Given the description of an element on the screen output the (x, y) to click on. 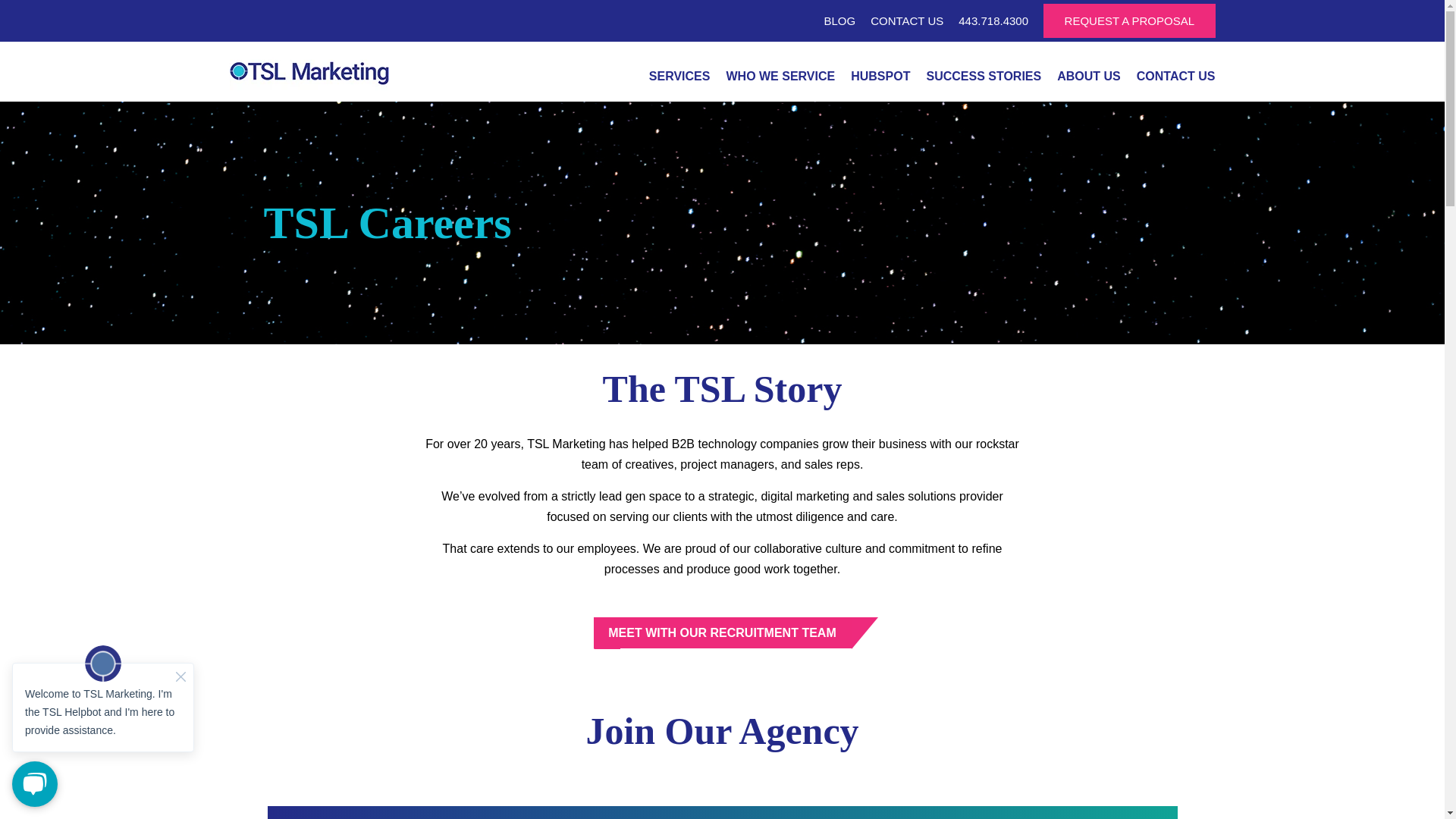
SUCCESS STORIES (983, 79)
HUBSPOT (879, 79)
Chat Widget (103, 725)
BLOG (840, 20)
SERVICES (679, 79)
CONTACT US (906, 20)
REQUEST A PROPOSAL (1128, 20)
WHO WE SERVICE (780, 79)
ABOUT US (1088, 79)
CONTACT US (1173, 79)
MEET WITH OUR RECRUITMENT TEAM (721, 632)
443.718.4300 (992, 20)
